Given the description of an element on the screen output the (x, y) to click on. 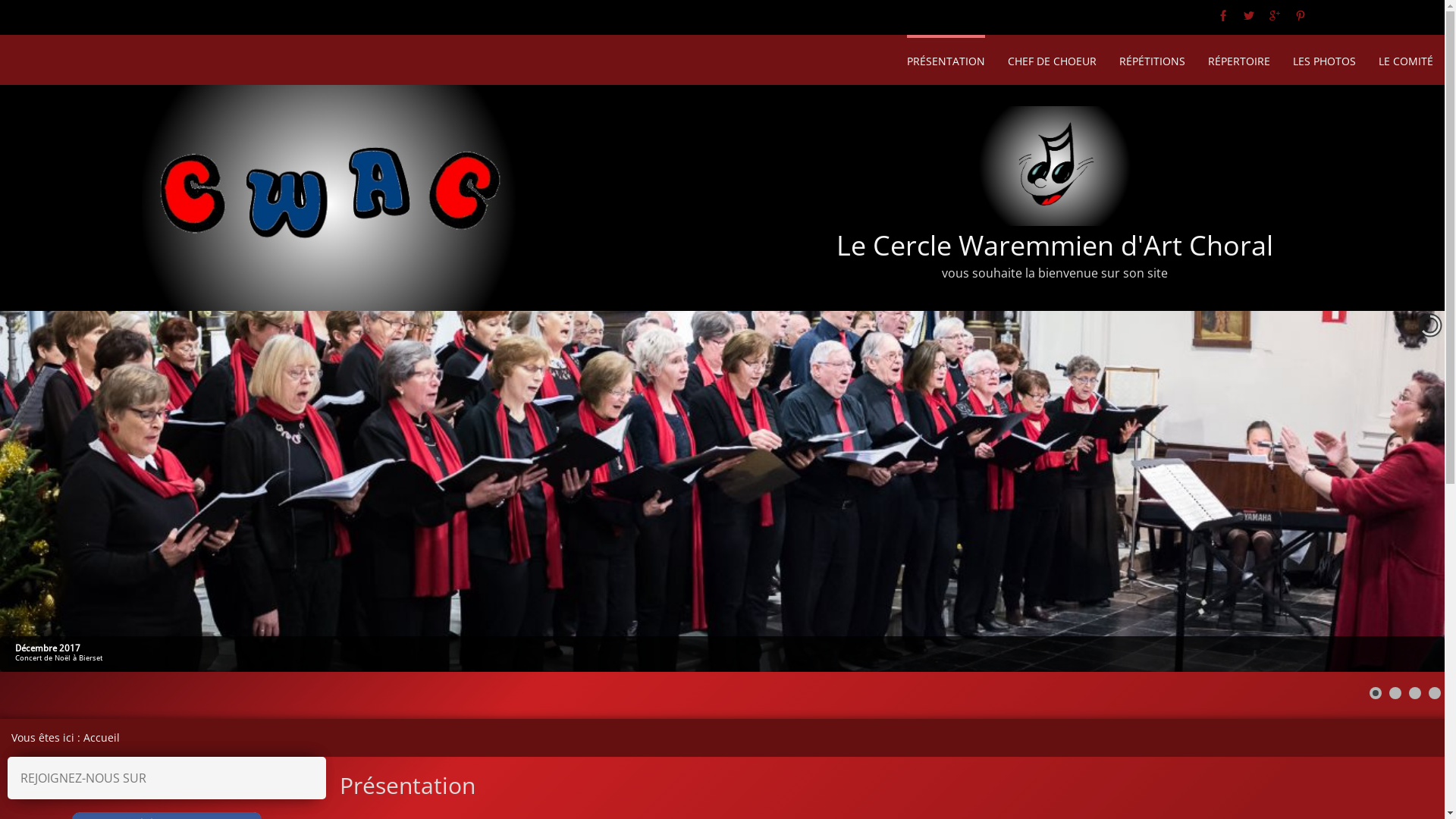
LES PHOTOS Element type: text (1323, 59)
Le Cercle Waremmien d'Art Choral Element type: text (1054, 244)
CHEF DE CHOEUR Element type: text (1051, 59)
